Given the description of an element on the screen output the (x, y) to click on. 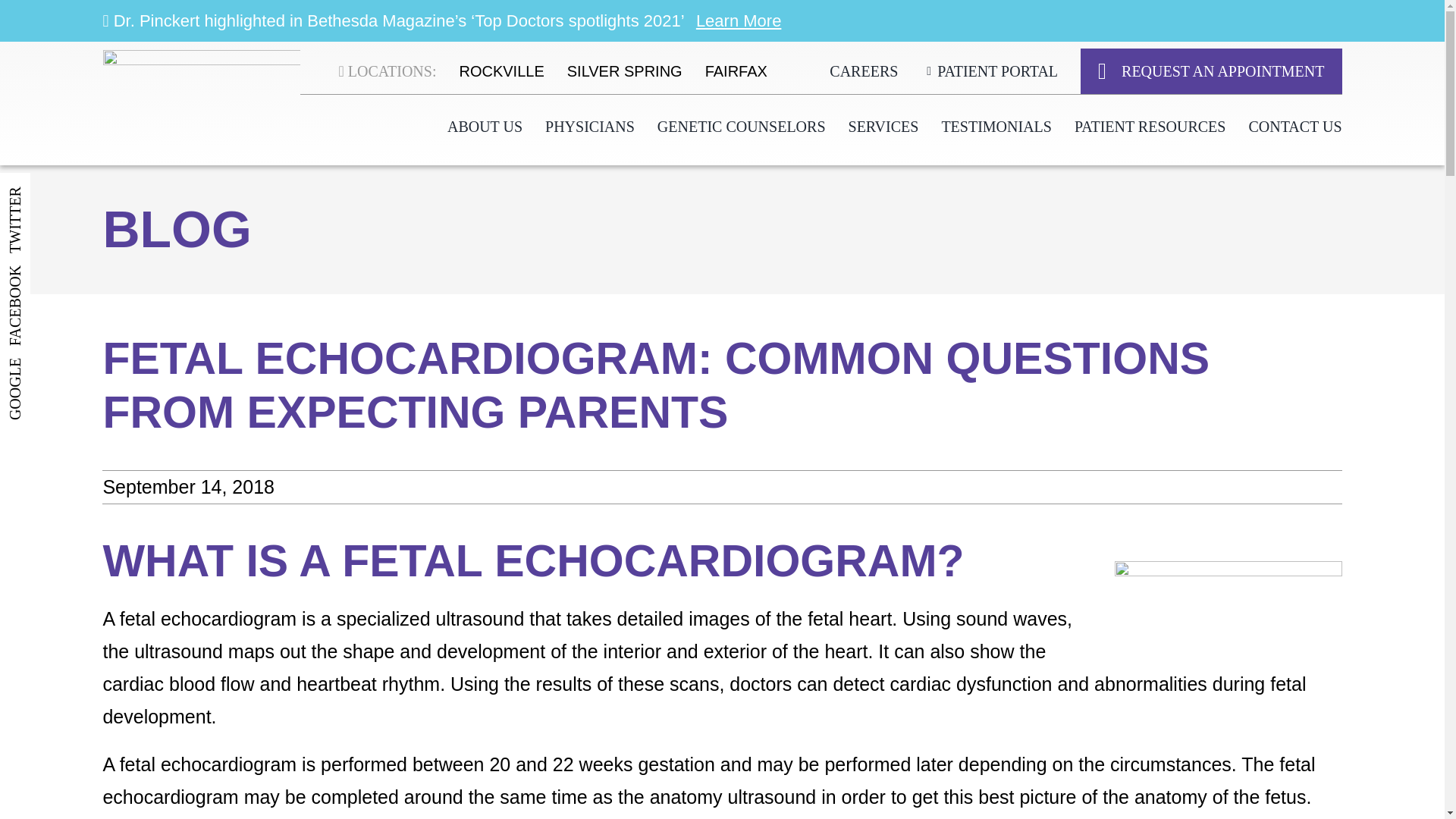
PATIENT RESOURCES (1149, 126)
PATIENT PORTAL (989, 71)
Learn More (738, 20)
TESTIMONIALS (995, 126)
SERVICES (883, 126)
PHYSICIANS (589, 126)
REQUEST AN APPOINTMENT (1210, 71)
SILVER SPRING (624, 71)
CAREERS (863, 71)
FAIRFAX (735, 71)
